Given the description of an element on the screen output the (x, y) to click on. 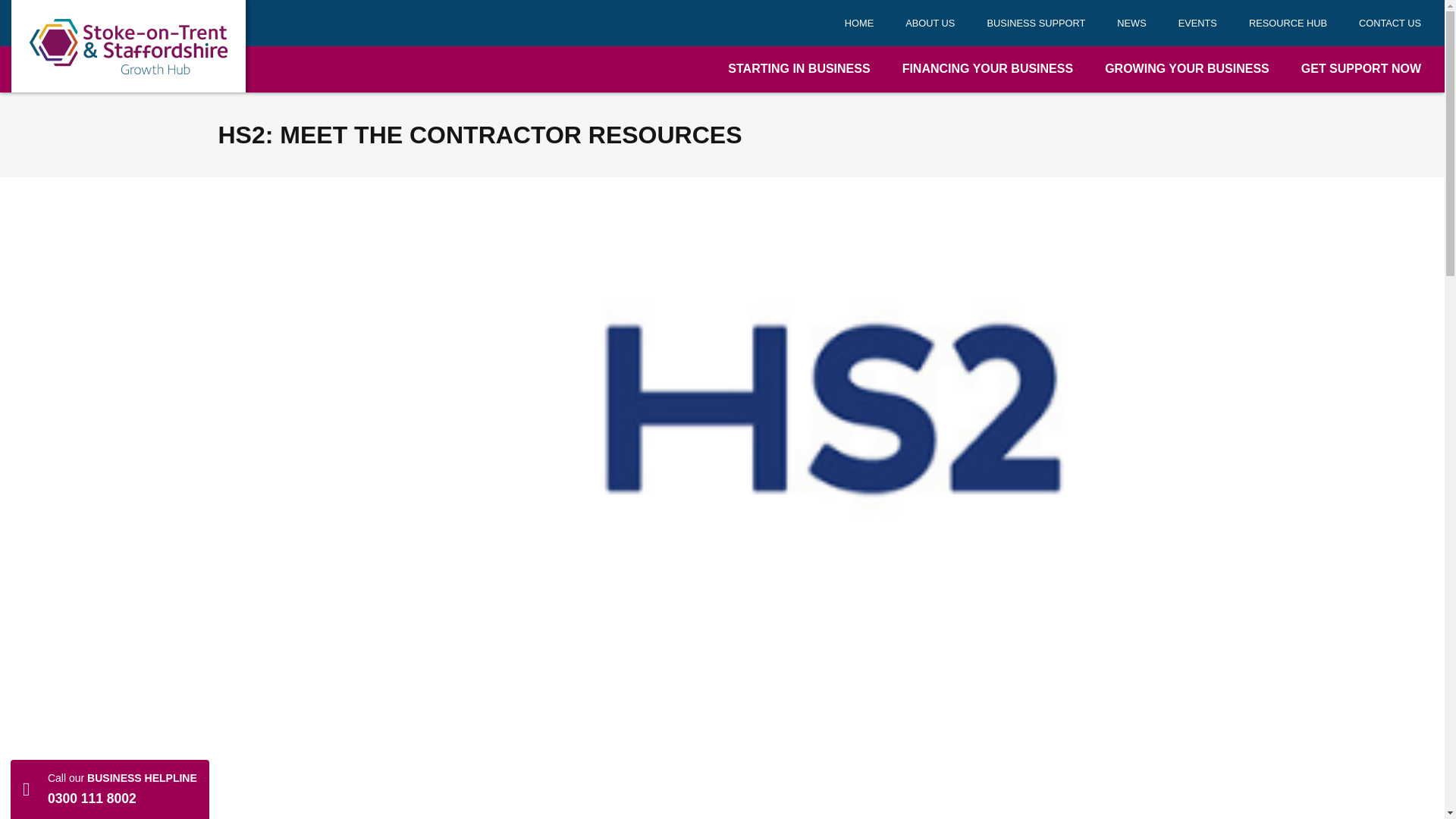
Financing Your Business (987, 68)
ABOUT US (929, 22)
BUSINESS SUPPORT (1035, 22)
About Us (929, 22)
GROWING YOUR BUSINESS (1187, 68)
Stoke on Trent Staffordshire Growth Hub (128, 46)
HOME (858, 22)
Events (1197, 22)
Resource Hub (1287, 22)
Contact Us (1389, 22)
